Given the description of an element on the screen output the (x, y) to click on. 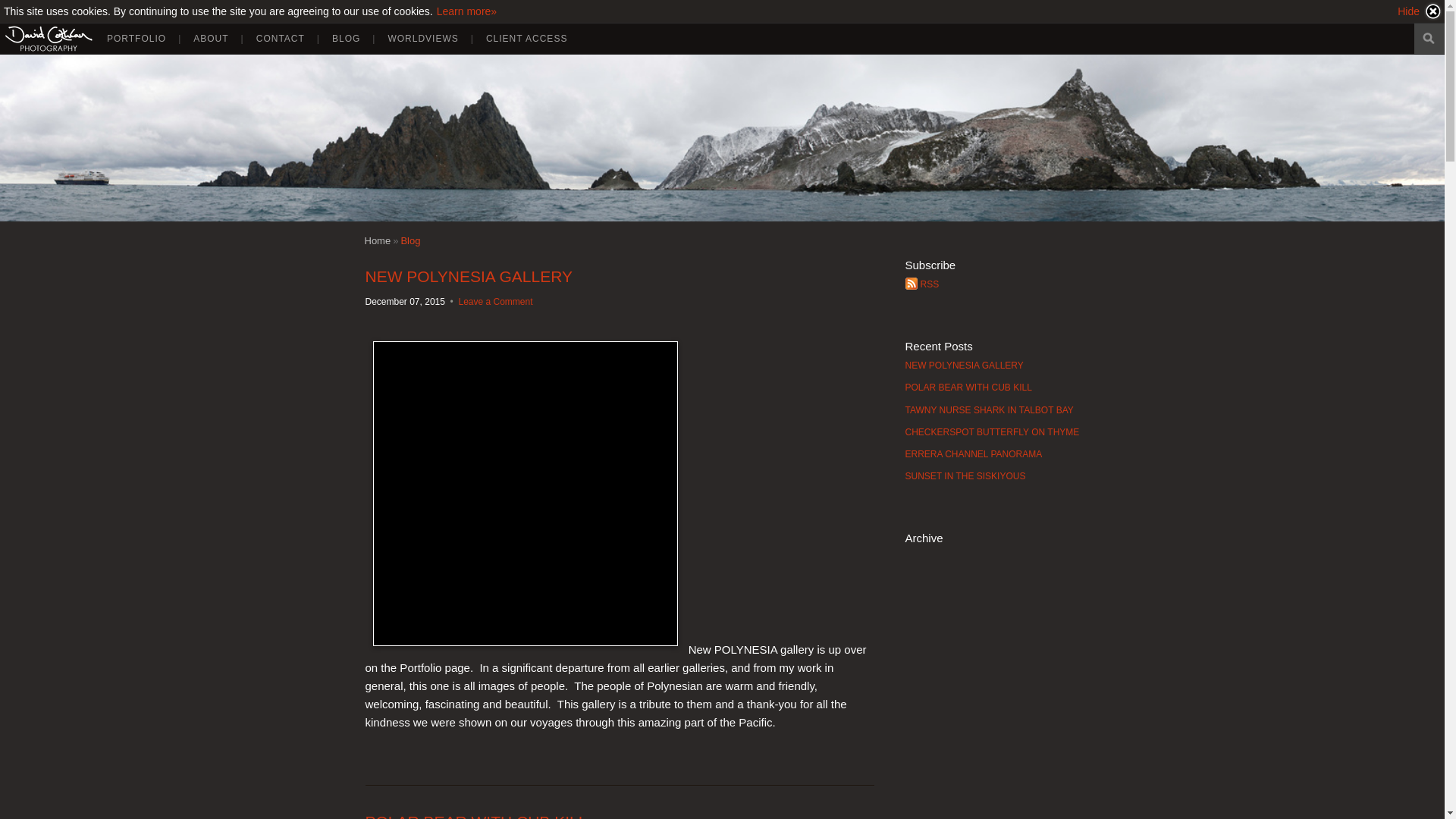
TAWNY NURSE SHARK IN TALBOT BAY (992, 414)
CHECKERSPOT BUTTERFLY ON THYME (992, 436)
POLAR BEAR WITH CUB KILL (476, 816)
SUNSET IN THE SISKIYOUS (992, 480)
PORTFOLIO (135, 38)
ERRERA CHANNEL PANORAMA (992, 458)
POLAR BEAR WITH CUB KILL (992, 391)
NEW POLYNESIA GALLERY (992, 369)
NEW POLYNESIA GALLERY (469, 276)
Home (377, 240)
David Cothran (48, 38)
David Cothran (377, 240)
Hide (1419, 11)
RSS (992, 288)
CONTACT (280, 38)
